Given the description of an element on the screen output the (x, y) to click on. 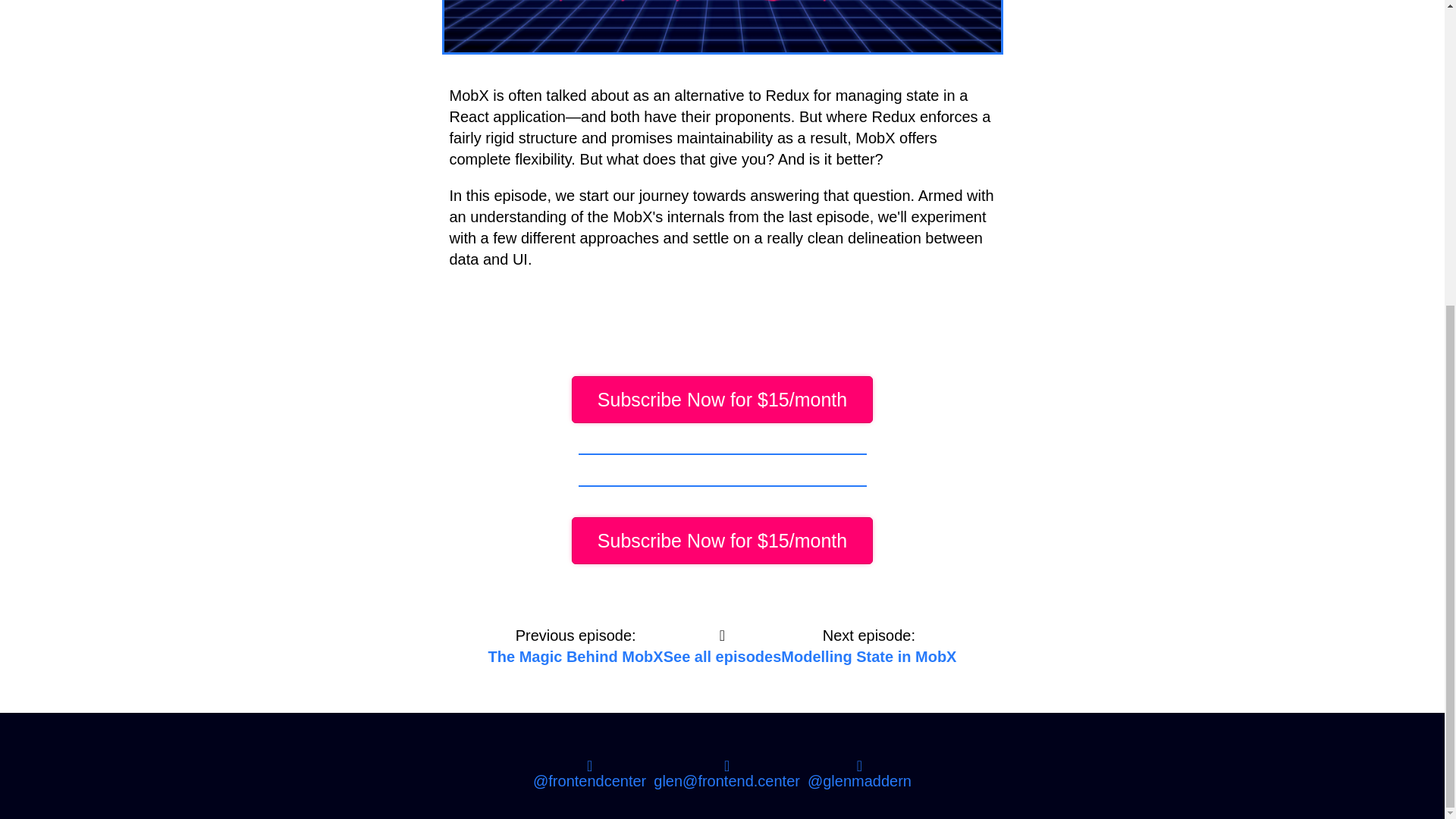
Modelling State in MobX (868, 656)
The Magic Behind MobX (575, 656)
See all episodes (722, 656)
